Given the description of an element on the screen output the (x, y) to click on. 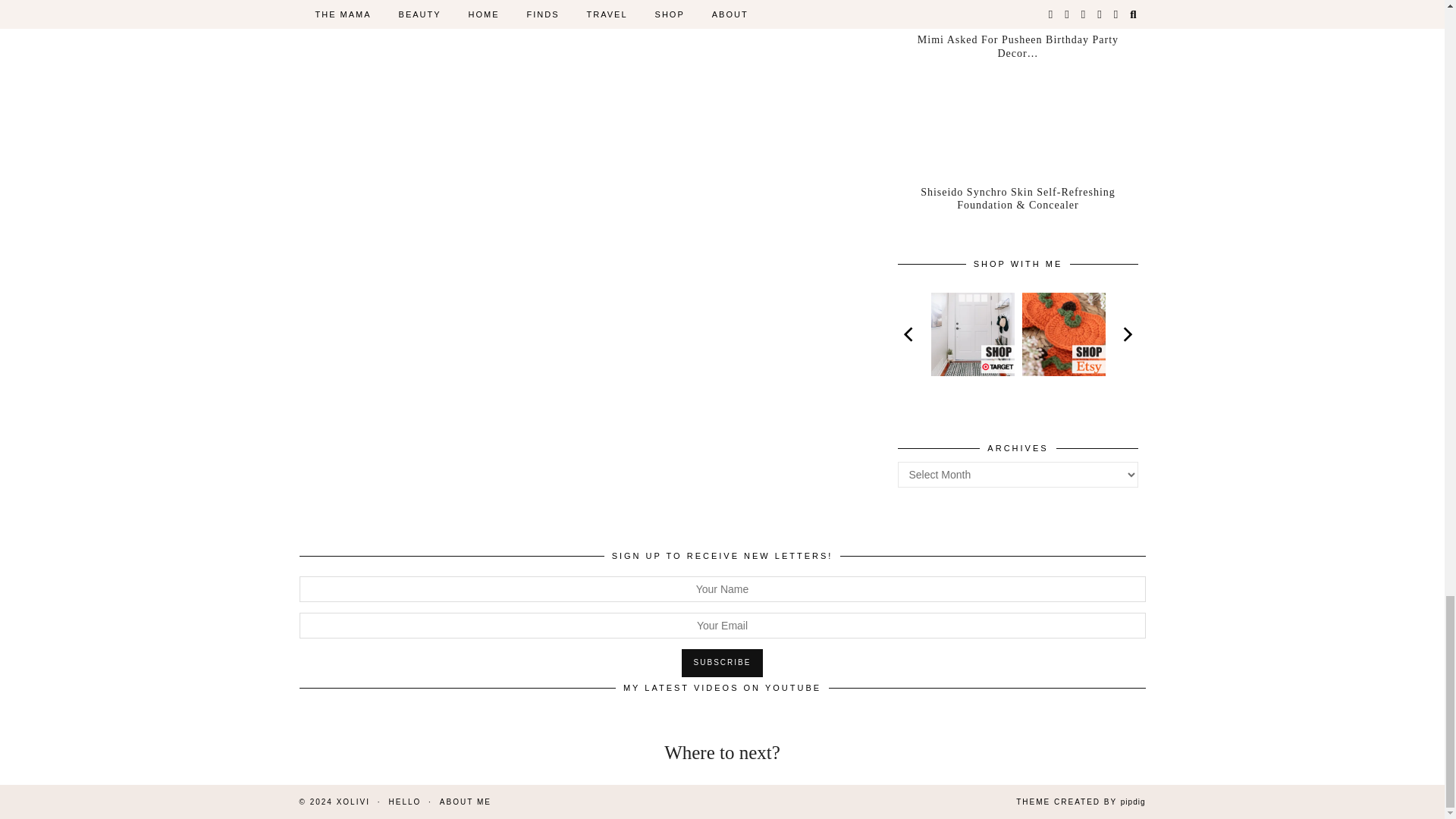
SUBSCRIBE (721, 662)
